Given the description of an element on the screen output the (x, y) to click on. 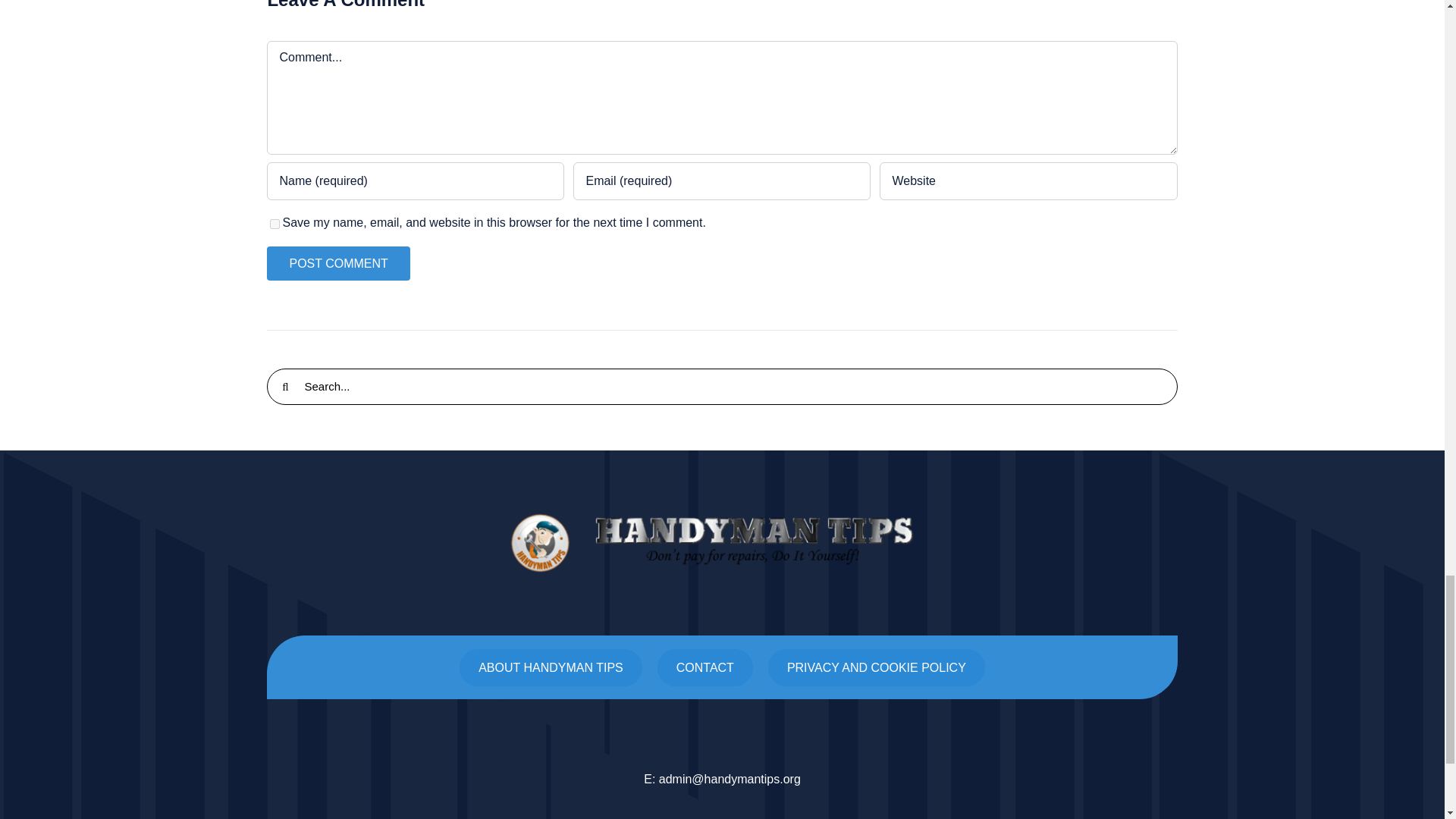
ABOUT HANDYMAN TIPS (551, 667)
Handyman tips header new (721, 542)
CONTACT (705, 667)
PRIVACY AND COOKIE POLICY (876, 667)
yes (274, 224)
Post Comment (337, 263)
Post Comment (337, 263)
